Given the description of an element on the screen output the (x, y) to click on. 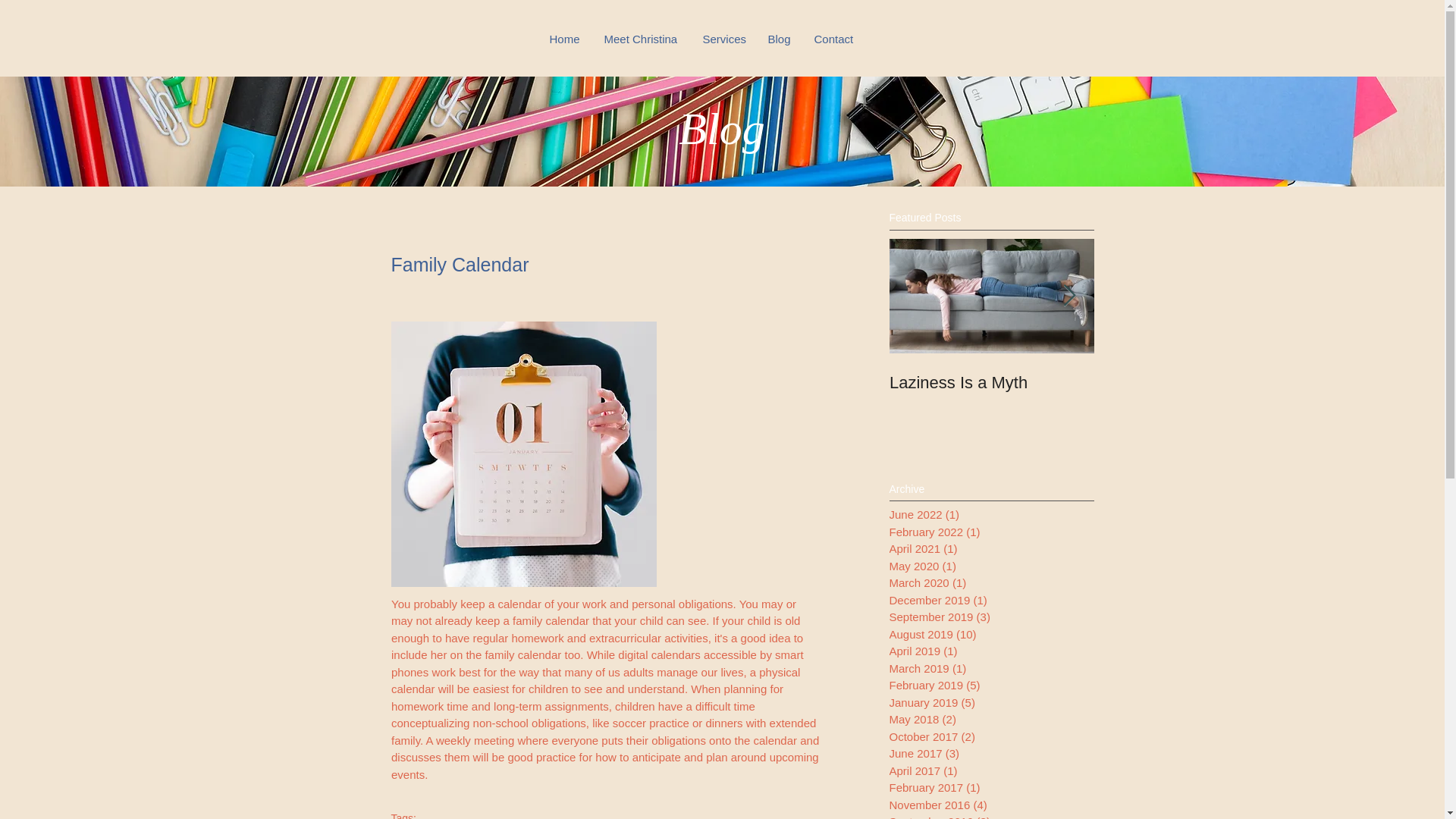
Contact (833, 38)
Your Child Needs A Password Manager (1195, 392)
Services (724, 38)
Home (565, 38)
Meet Christina (641, 38)
Laziness Is a Myth (990, 383)
Blog (780, 38)
